Given the description of an element on the screen output the (x, y) to click on. 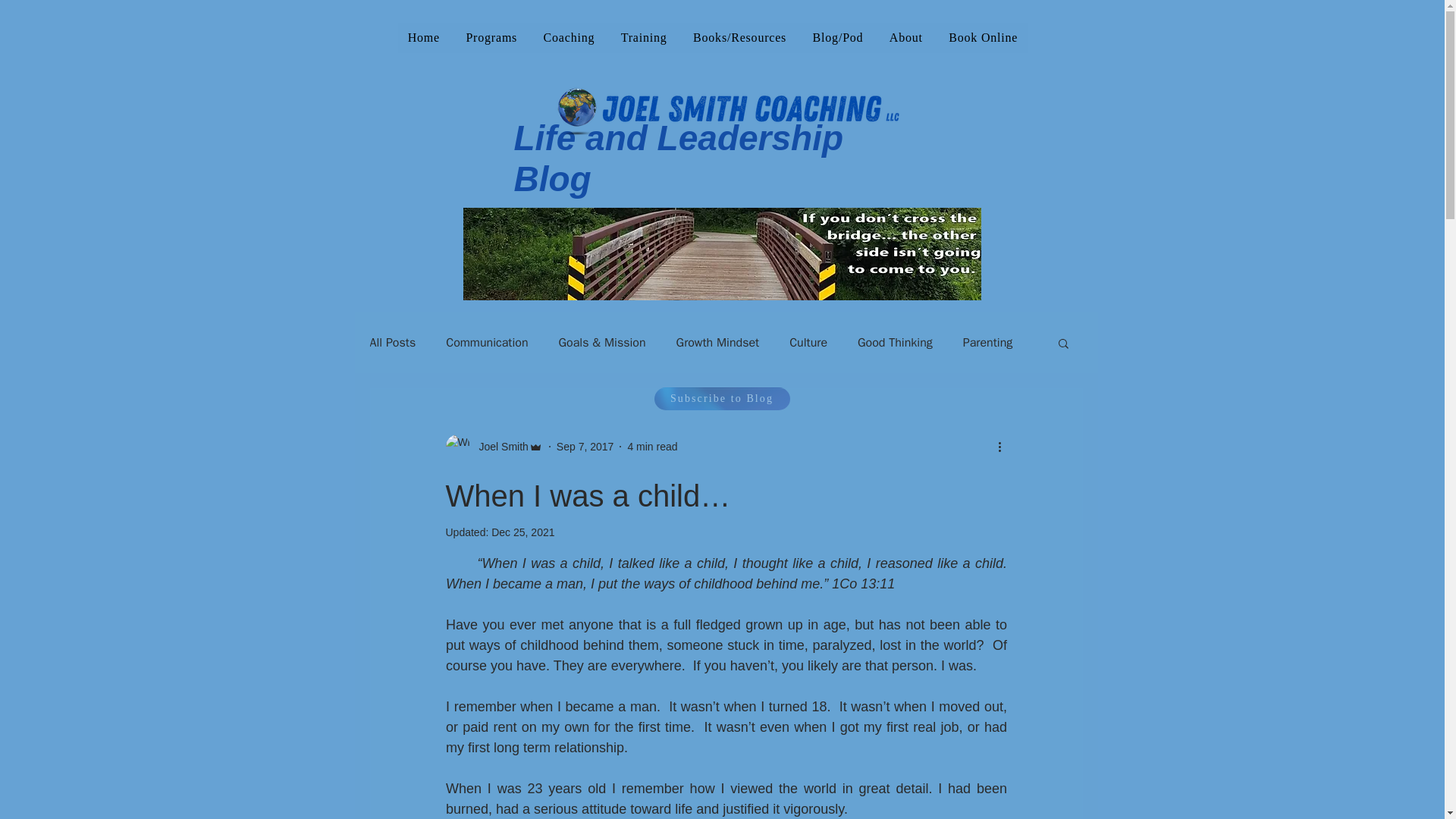
About (906, 37)
Dec 25, 2021 (523, 532)
Subscribe to Blog (721, 398)
Home (423, 37)
Growth Mindset (718, 342)
Book Online (983, 37)
Joel Smith (499, 446)
Sep 7, 2017 (585, 445)
Communication (486, 342)
All Posts (392, 342)
4 min read (652, 445)
